Given the description of an element on the screen output the (x, y) to click on. 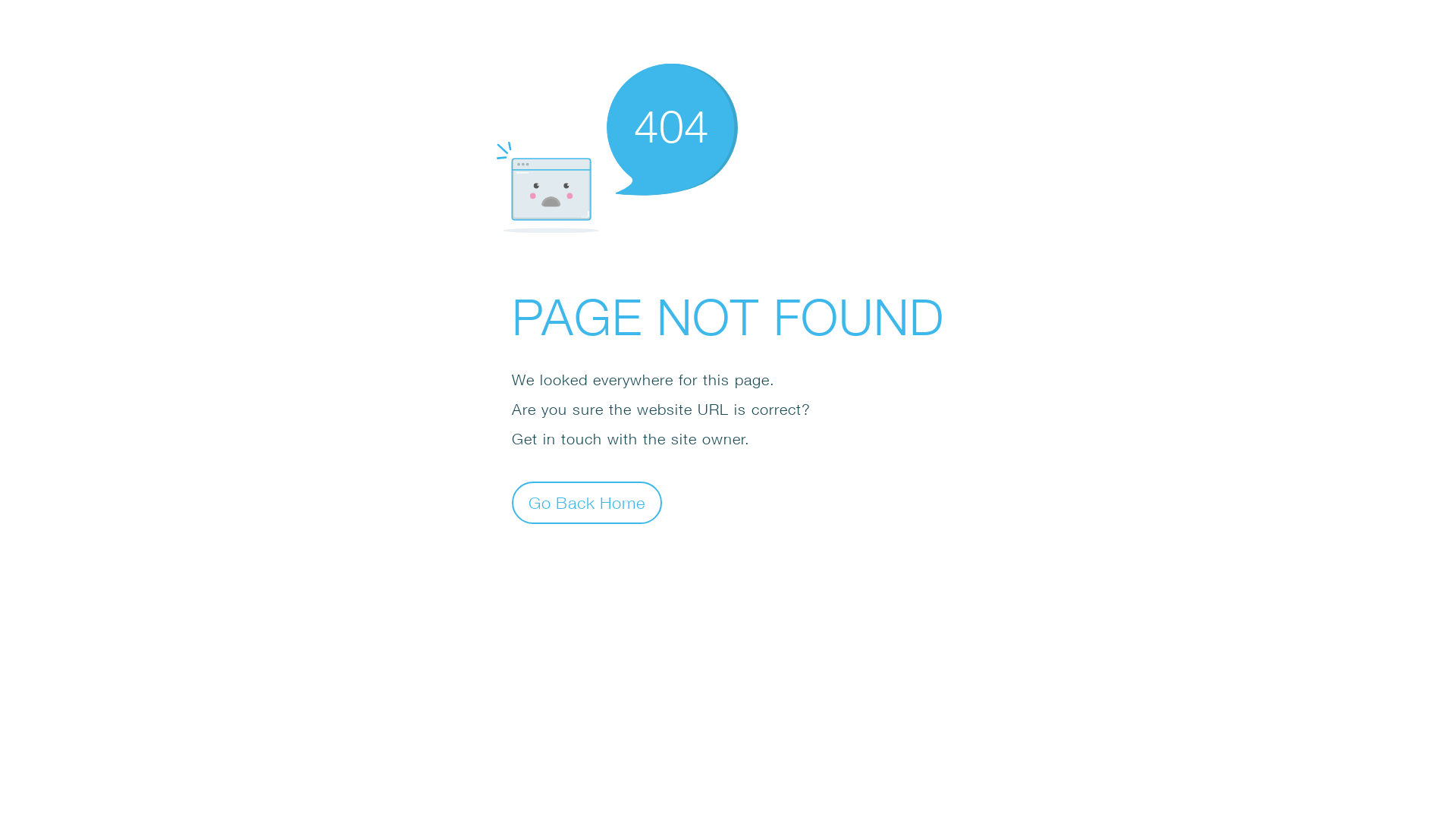
Go Back Home Element type: text (586, 502)
